Given the description of an element on the screen output the (x, y) to click on. 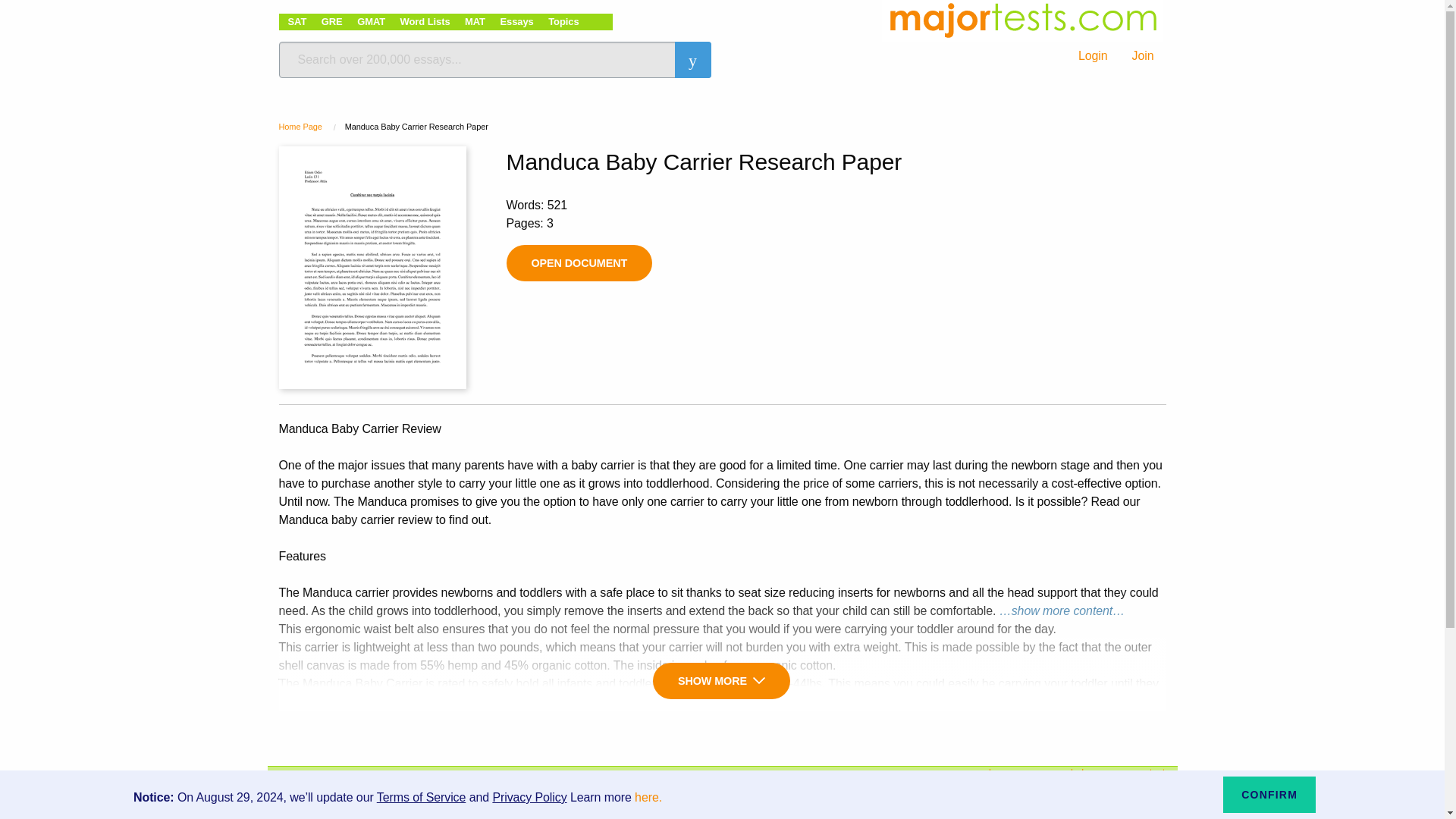
contact (1139, 772)
Word Lists (424, 21)
CA Privacy Policy (1063, 810)
Topics (563, 21)
help (1063, 772)
Privacy Policy (529, 797)
Terms of Service (421, 797)
link to us (1139, 796)
GMAT (370, 21)
GRE (331, 21)
privacy (1063, 784)
Essays (515, 21)
Virtual Writing Center (949, 784)
Join (1142, 55)
home (949, 772)
